Given the description of an element on the screen output the (x, y) to click on. 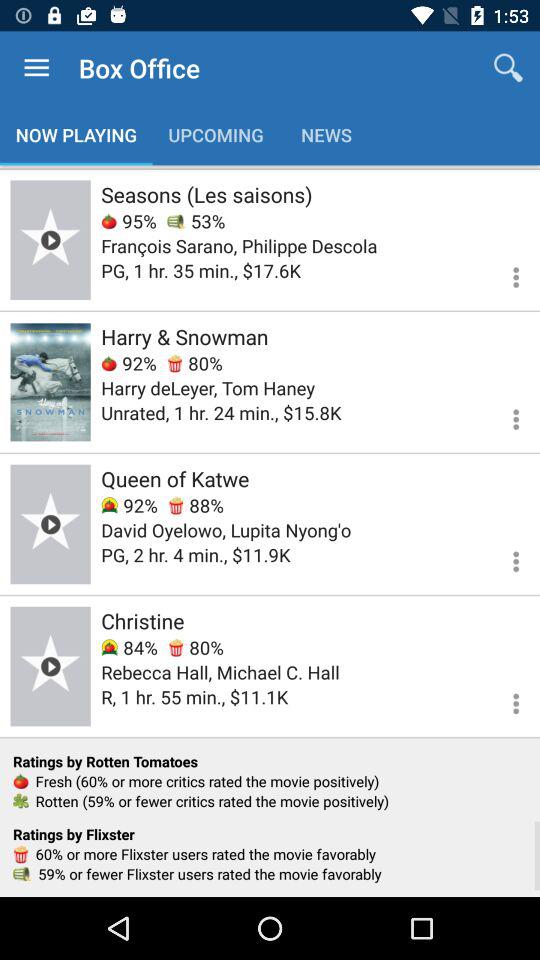
turn on the icon to the left of 53% icon (128, 220)
